Given the description of an element on the screen output the (x, y) to click on. 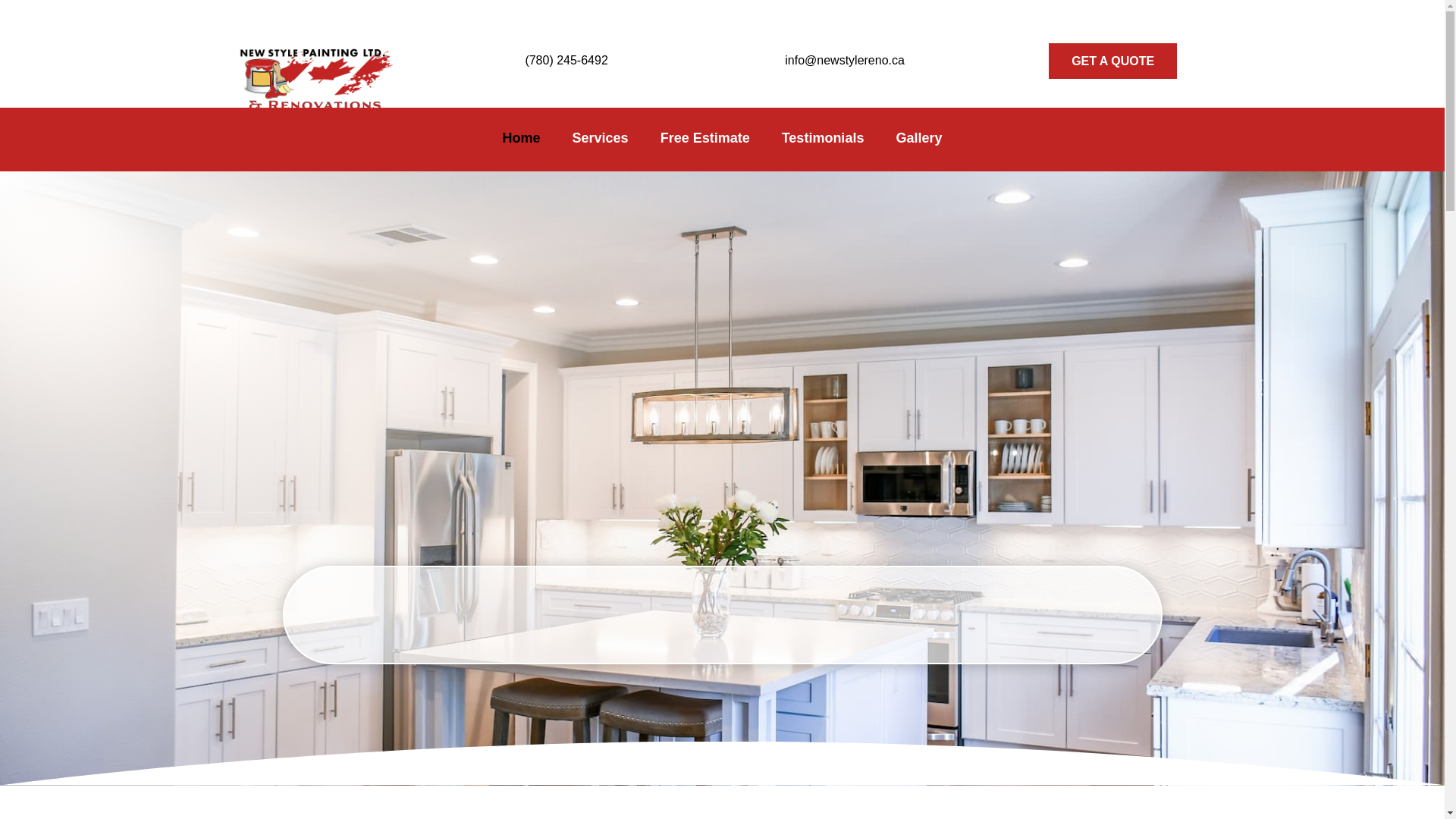
Free Estimate (704, 140)
Testimonials (823, 140)
Gallery (918, 140)
logo-new (312, 74)
GET A QUOTE (1111, 60)
Home (521, 140)
Services (600, 140)
